Given the description of an element on the screen output the (x, y) to click on. 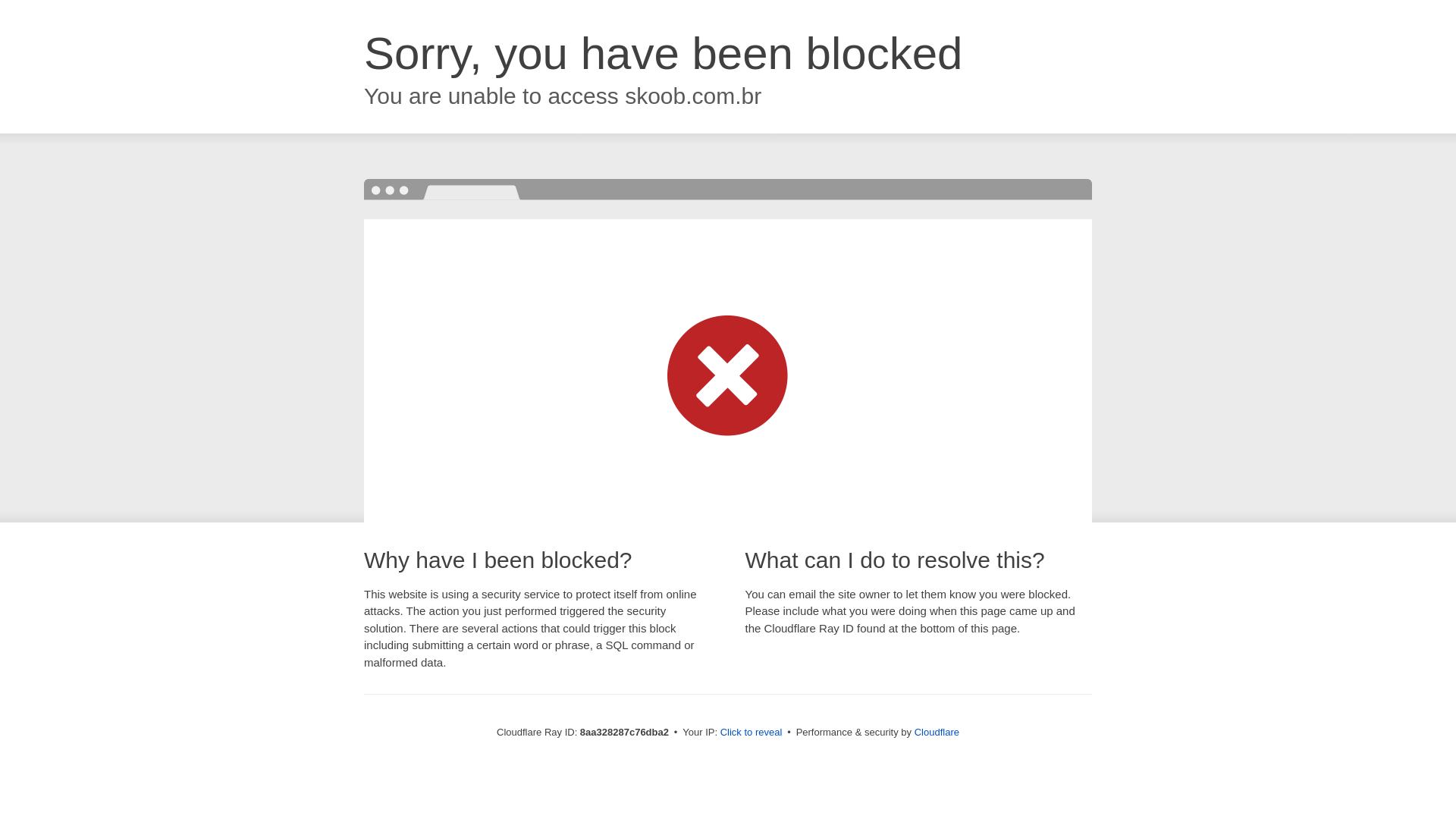
Click to reveal (751, 732)
Cloudflare (936, 731)
